Given the description of an element on the screen output the (x, y) to click on. 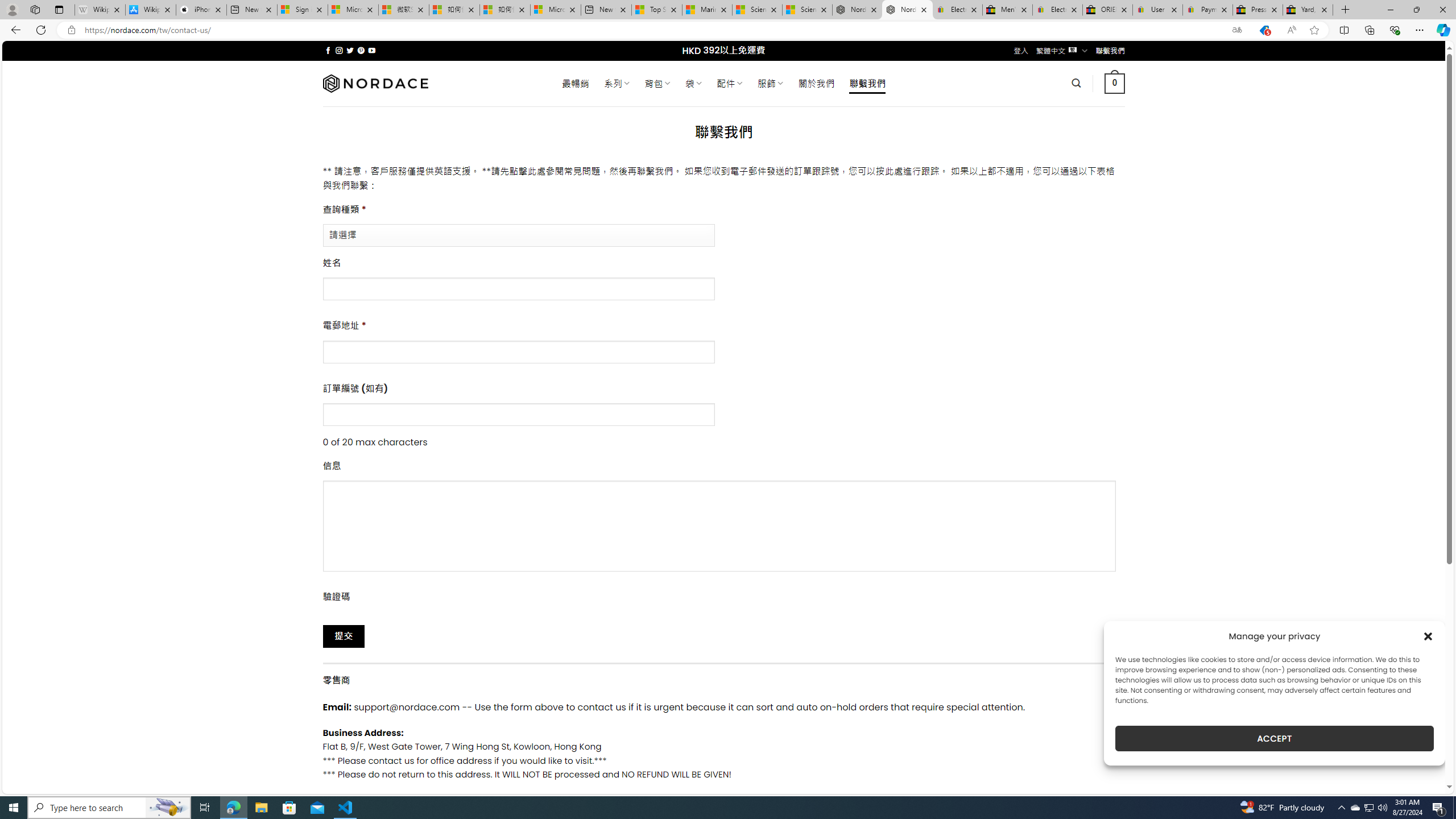
Follow on Pinterest (360, 50)
